Given the description of an element on the screen output the (x, y) to click on. 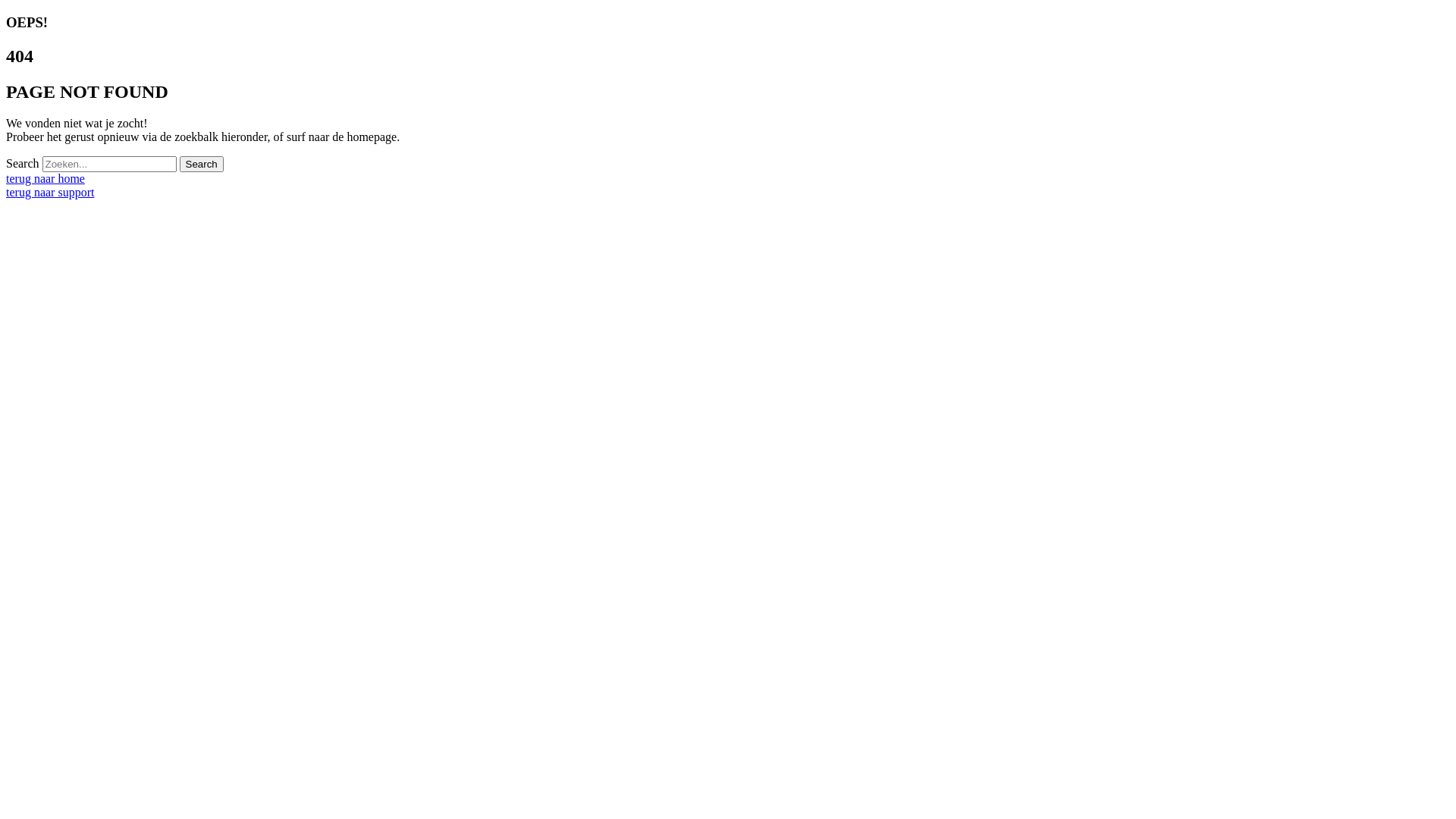
terug naar home Element type: text (45, 178)
Search Element type: text (201, 164)
terug naar support Element type: text (50, 191)
